Given the description of an element on the screen output the (x, y) to click on. 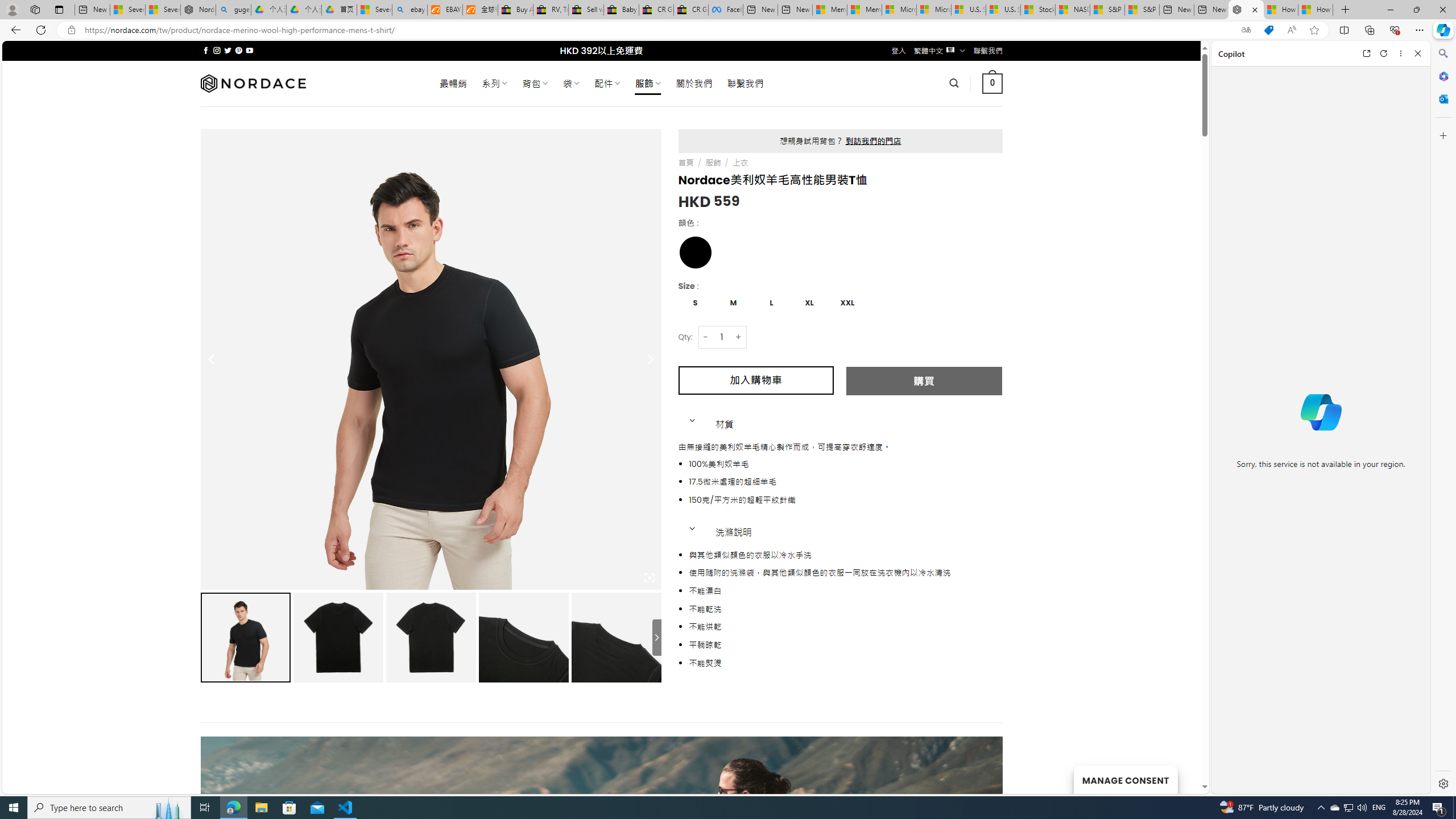
Read aloud this page (Ctrl+Shift+U) (1291, 29)
Address and search bar (658, 29)
Follow on Instagram (216, 50)
Sell worldwide with eBay (585, 9)
Show translate options (1245, 29)
How to Use a Monitor With Your Closed Laptop (1315, 9)
